Given the description of an element on the screen output the (x, y) to click on. 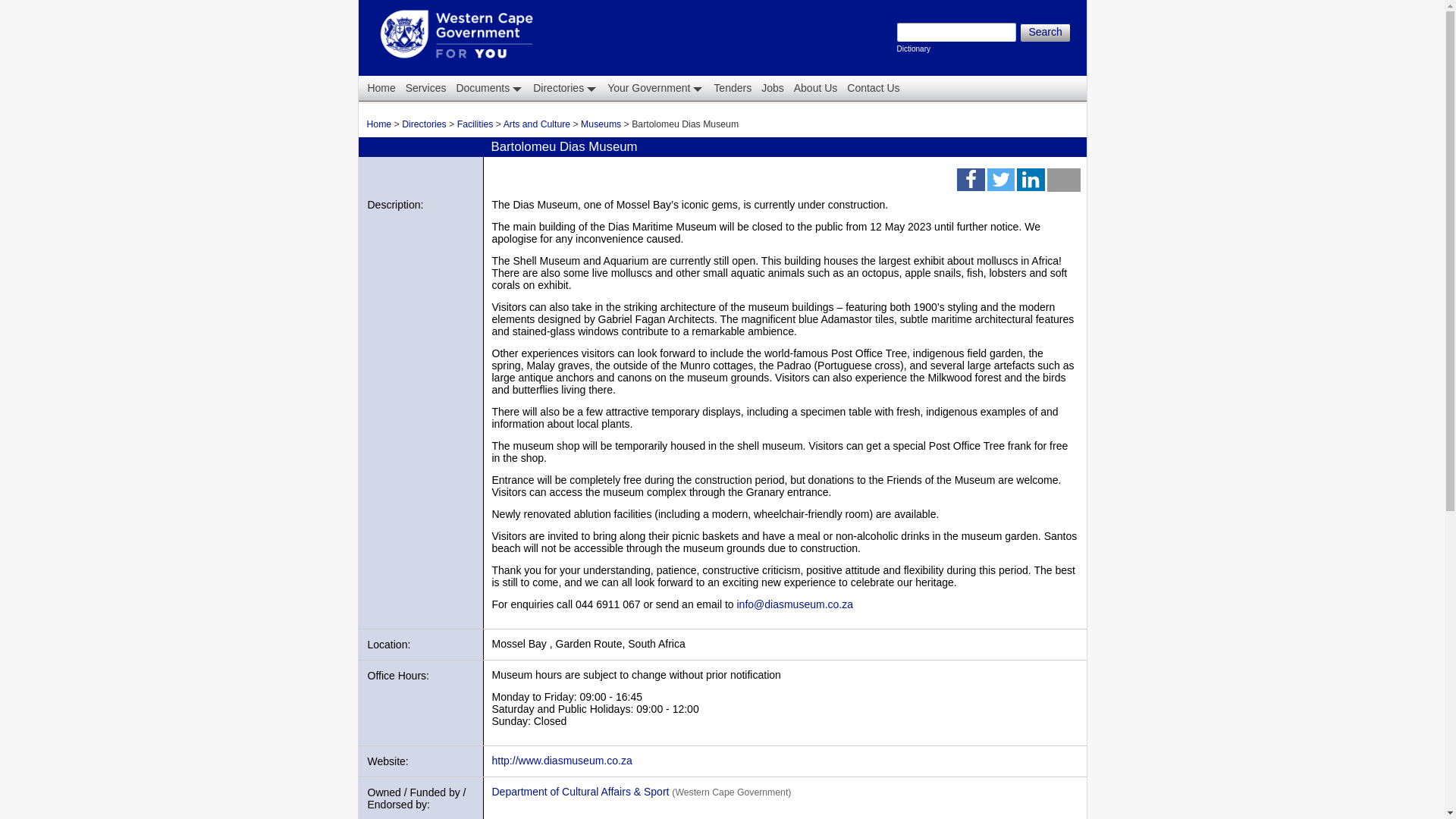
Arts and Culture (536, 123)
Tenders (731, 88)
Skip to main content (691, 1)
Directories (423, 123)
Search (654, 88)
Contact Us (1044, 32)
Facilities (871, 88)
Share on Facebook (475, 123)
Share on Twitter (970, 182)
